Given the description of an element on the screen output the (x, y) to click on. 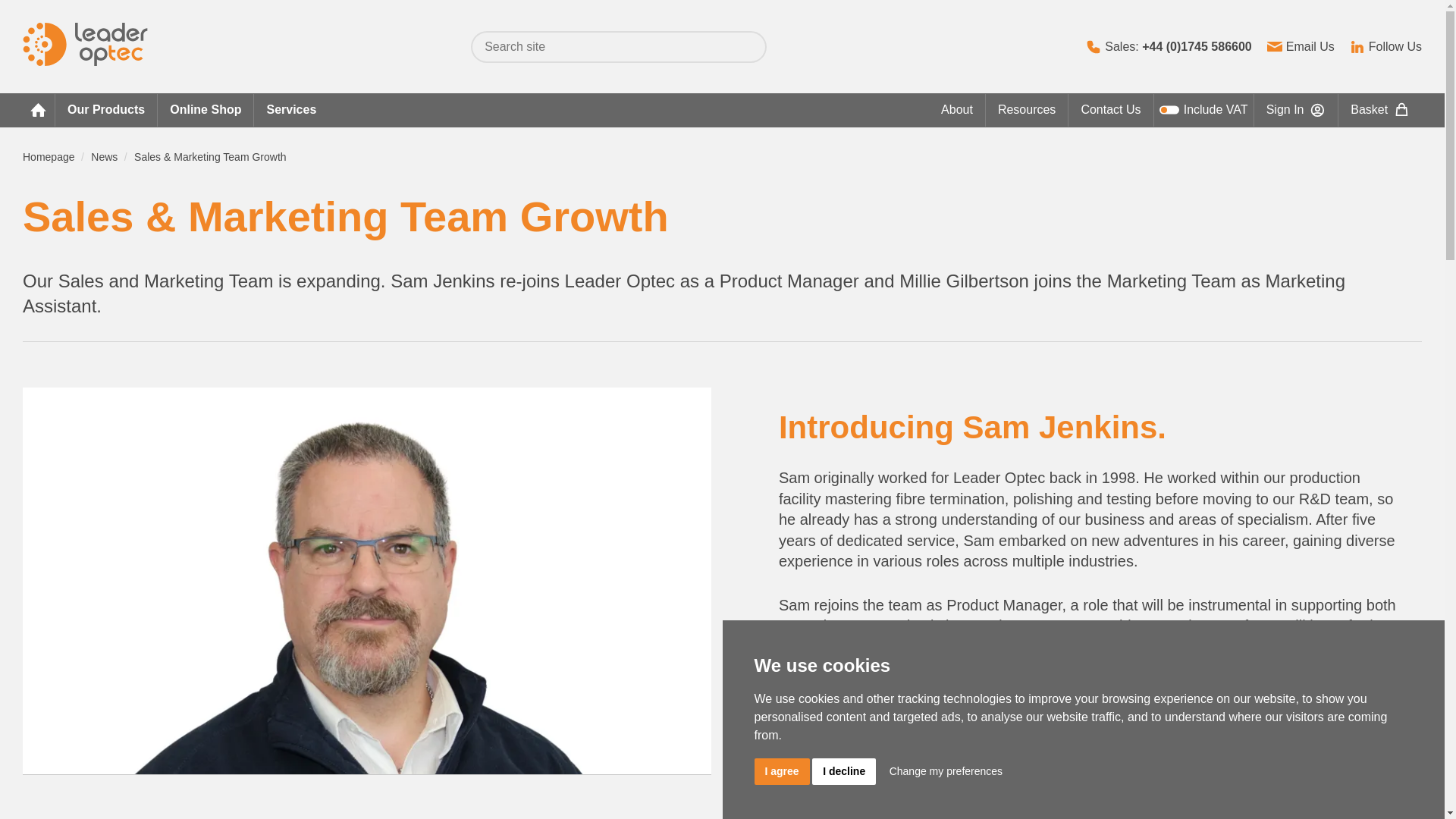
I decline (844, 771)
Our Products (106, 110)
I agree (781, 771)
Resources (1026, 110)
Basket (1380, 110)
Sign In (1296, 110)
Contact Us (1110, 110)
Follow Us (1385, 45)
Change my preferences (946, 771)
Services (291, 110)
Email Us (1300, 45)
Home (39, 110)
Homepage (49, 156)
About (956, 110)
